Given the description of an element on the screen output the (x, y) to click on. 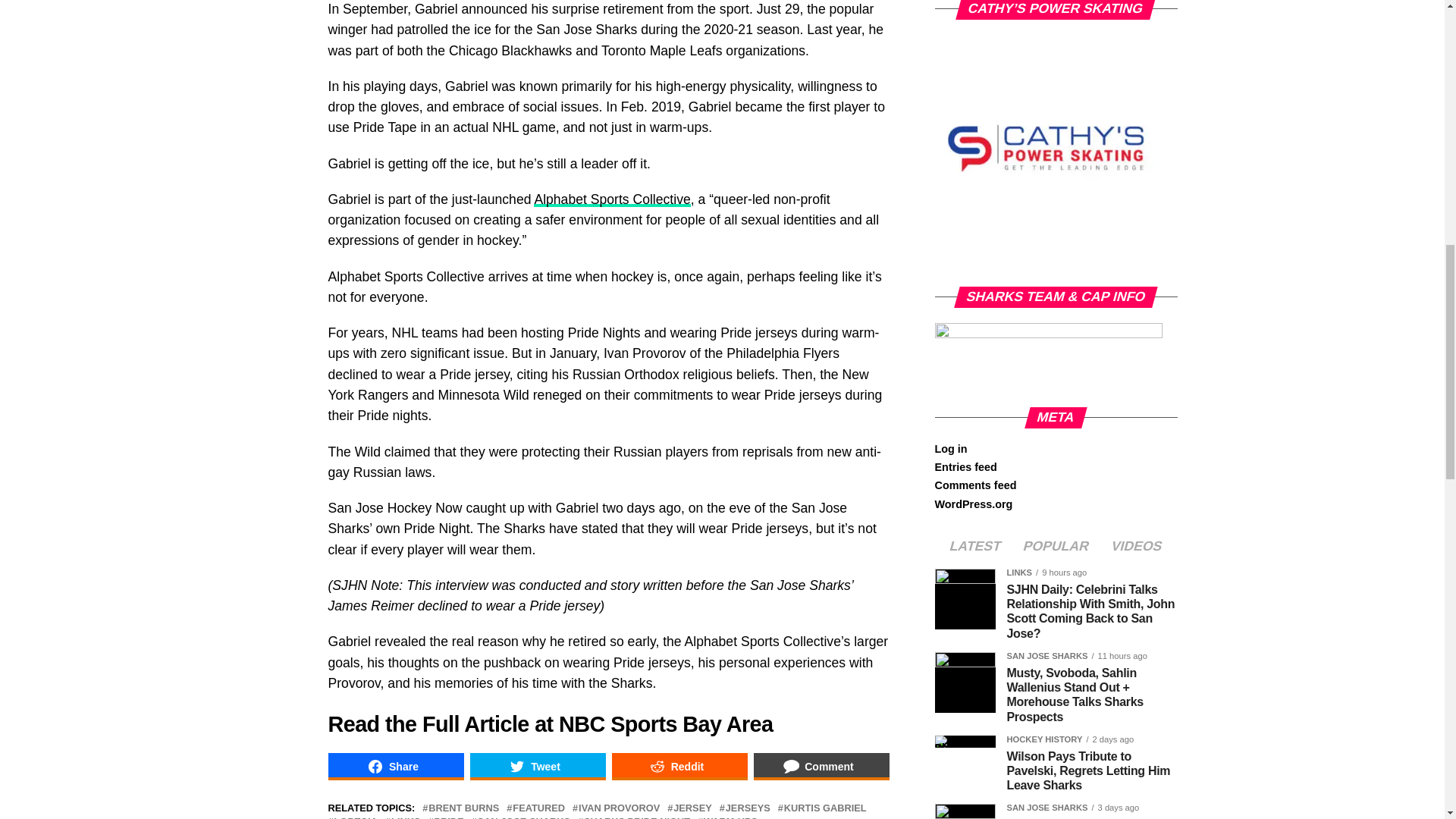
Share on Reddit (678, 766)
Share on Comment (821, 766)
Share on Tweet (537, 766)
Share on Share (395, 766)
